Given the description of an element on the screen output the (x, y) to click on. 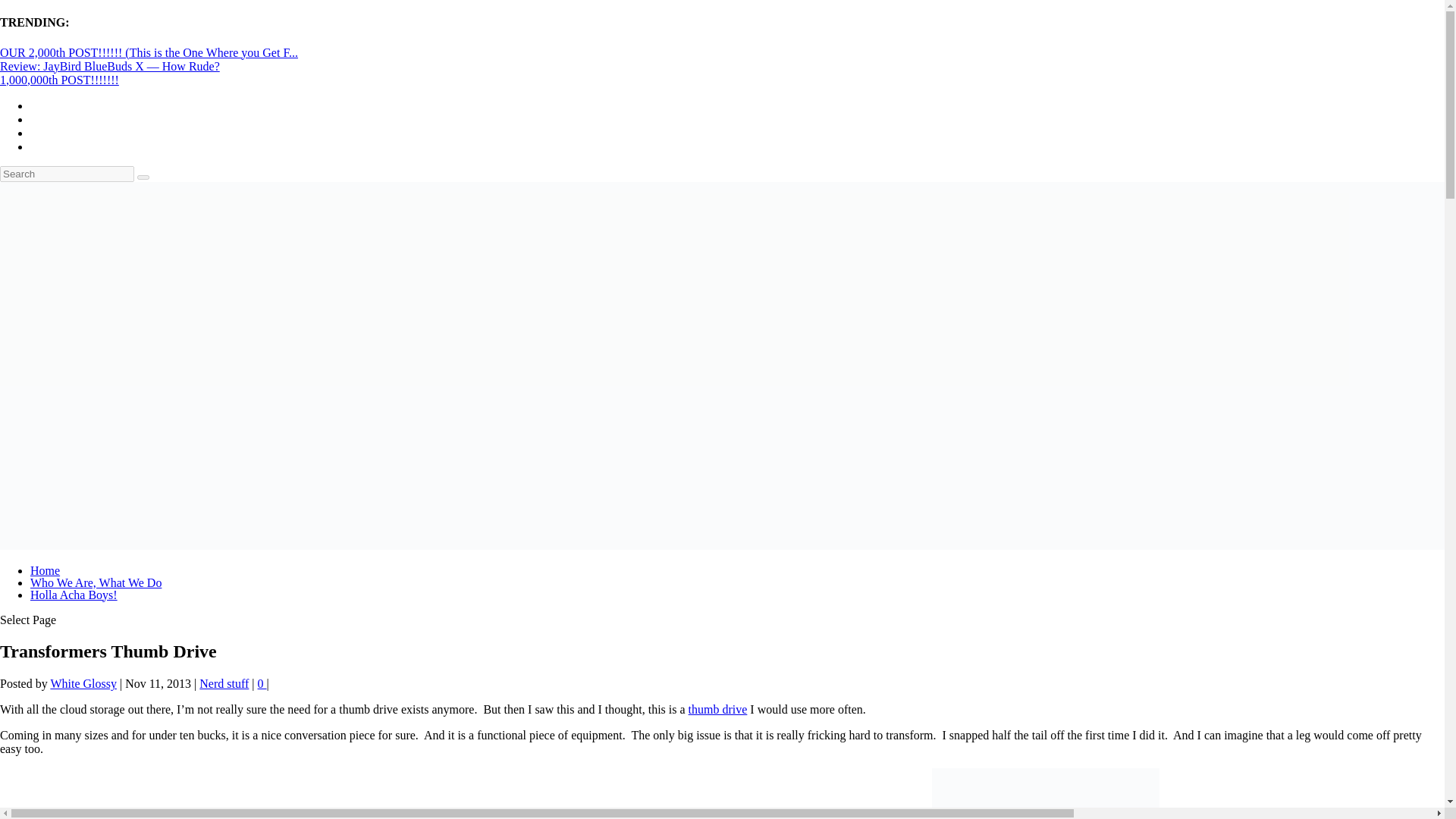
Who We Are, What We Do (95, 582)
Search for: (66, 173)
Holla Acha Boys! (73, 594)
0 (261, 683)
Home (44, 570)
White Glossy (82, 683)
Posts by White Glossy (82, 683)
1,000,000th POST!!!!!!! (59, 79)
Nerd stuff (223, 683)
thumb drive (718, 708)
